Given the description of an element on the screen output the (x, y) to click on. 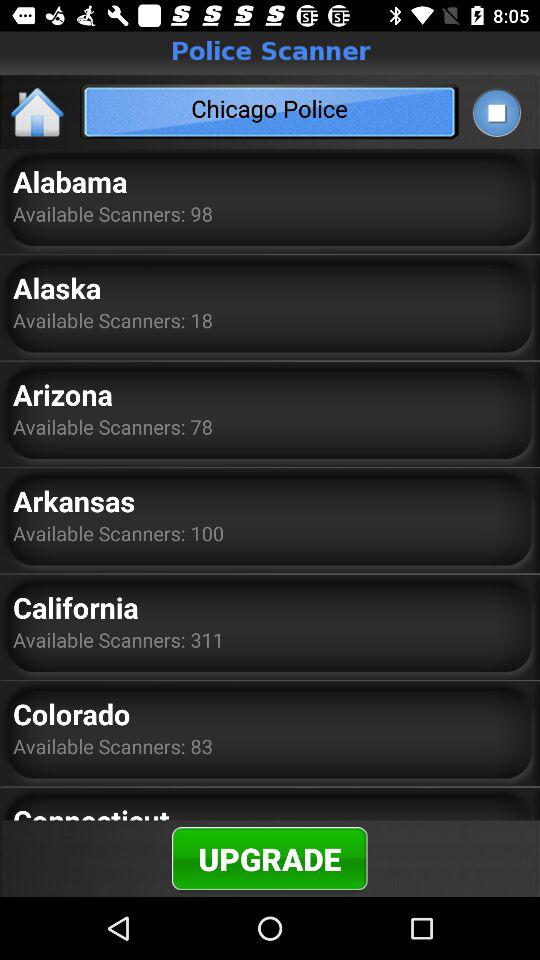
turn on colorado icon (71, 713)
